Given the description of an element on the screen output the (x, y) to click on. 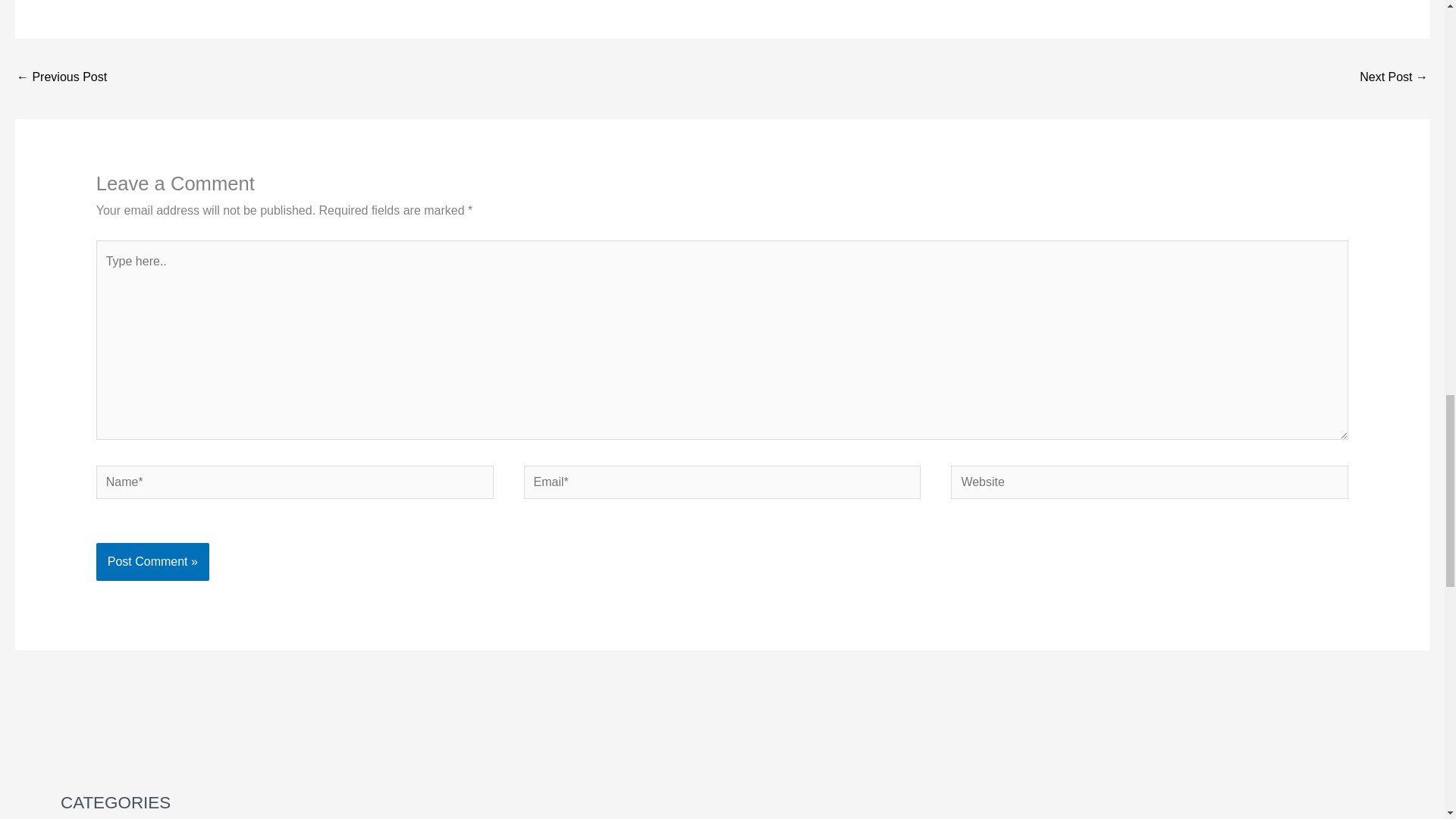
How To Resolve AOL Keeps Crashing Issue ? (1393, 78)
